Given the description of an element on the screen output the (x, y) to click on. 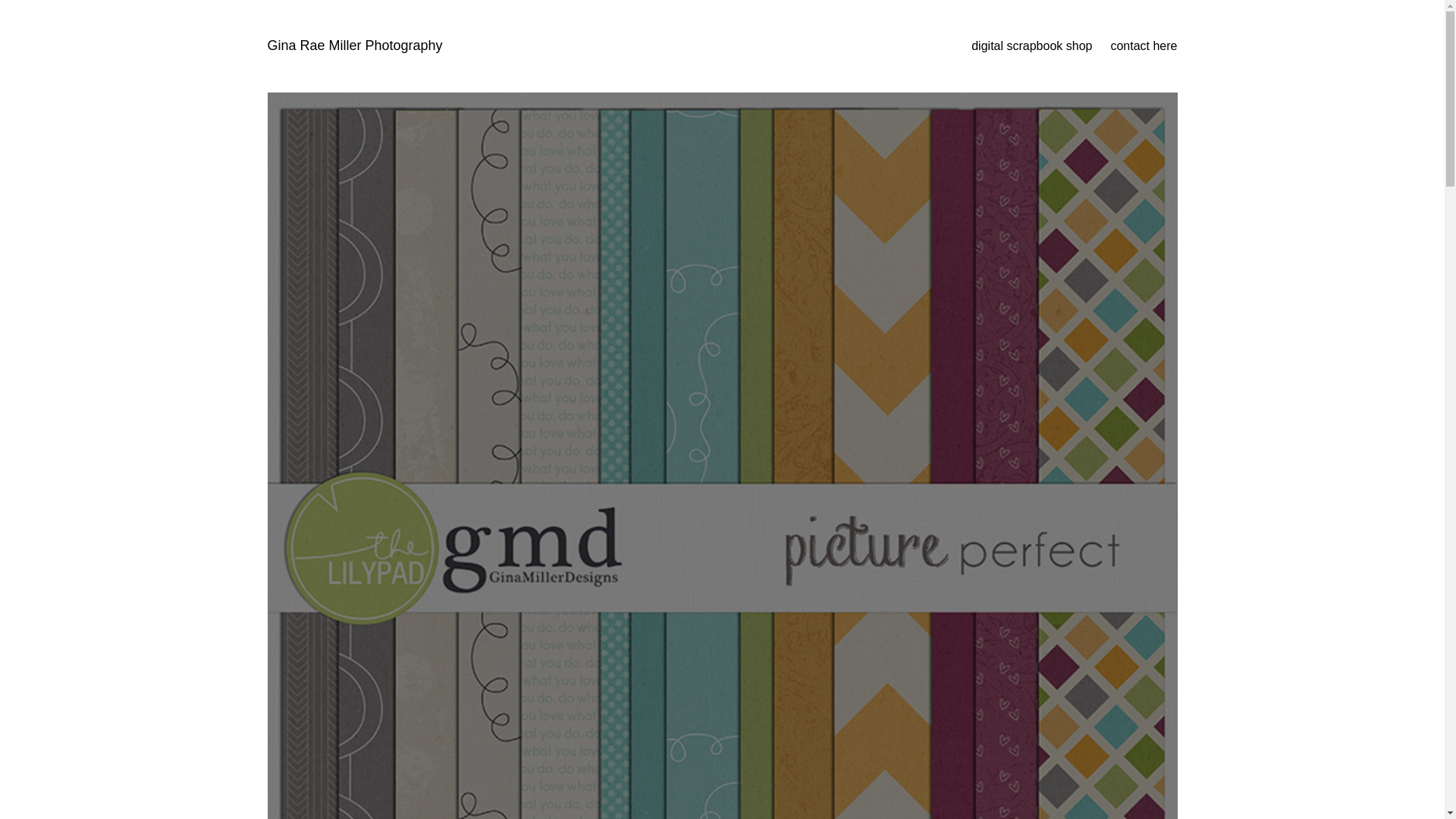
contact here (1142, 46)
digital scrapbook shop (1031, 46)
Gina Rae Miller Photography (354, 45)
